Given the description of an element on the screen output the (x, y) to click on. 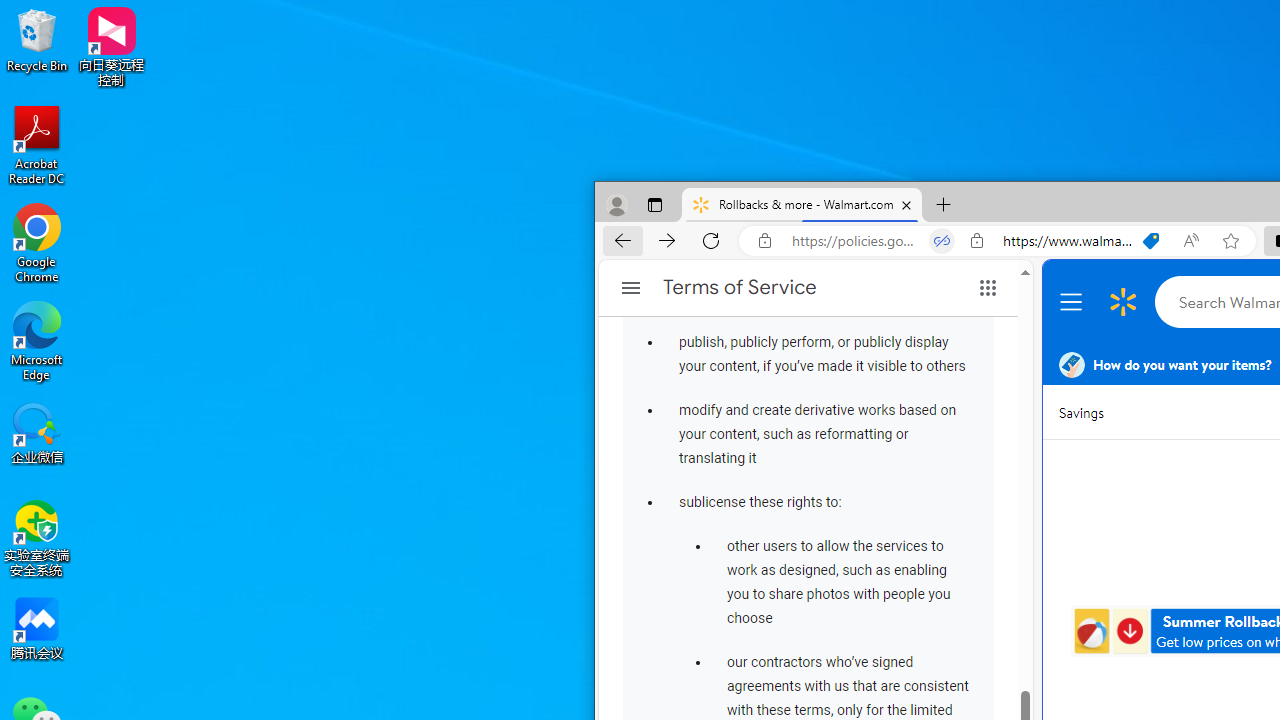
Recycle Bin (37, 39)
Menu (1074, 301)
Rollbacks & more - Walmart.com (802, 205)
Walmart Homepage (1123, 301)
This site has coupons! Shopping in Microsoft Edge, 7 (1151, 241)
Savings (1080, 412)
Tabs in split screen (941, 241)
Google Chrome (37, 242)
